Given the description of an element on the screen output the (x, y) to click on. 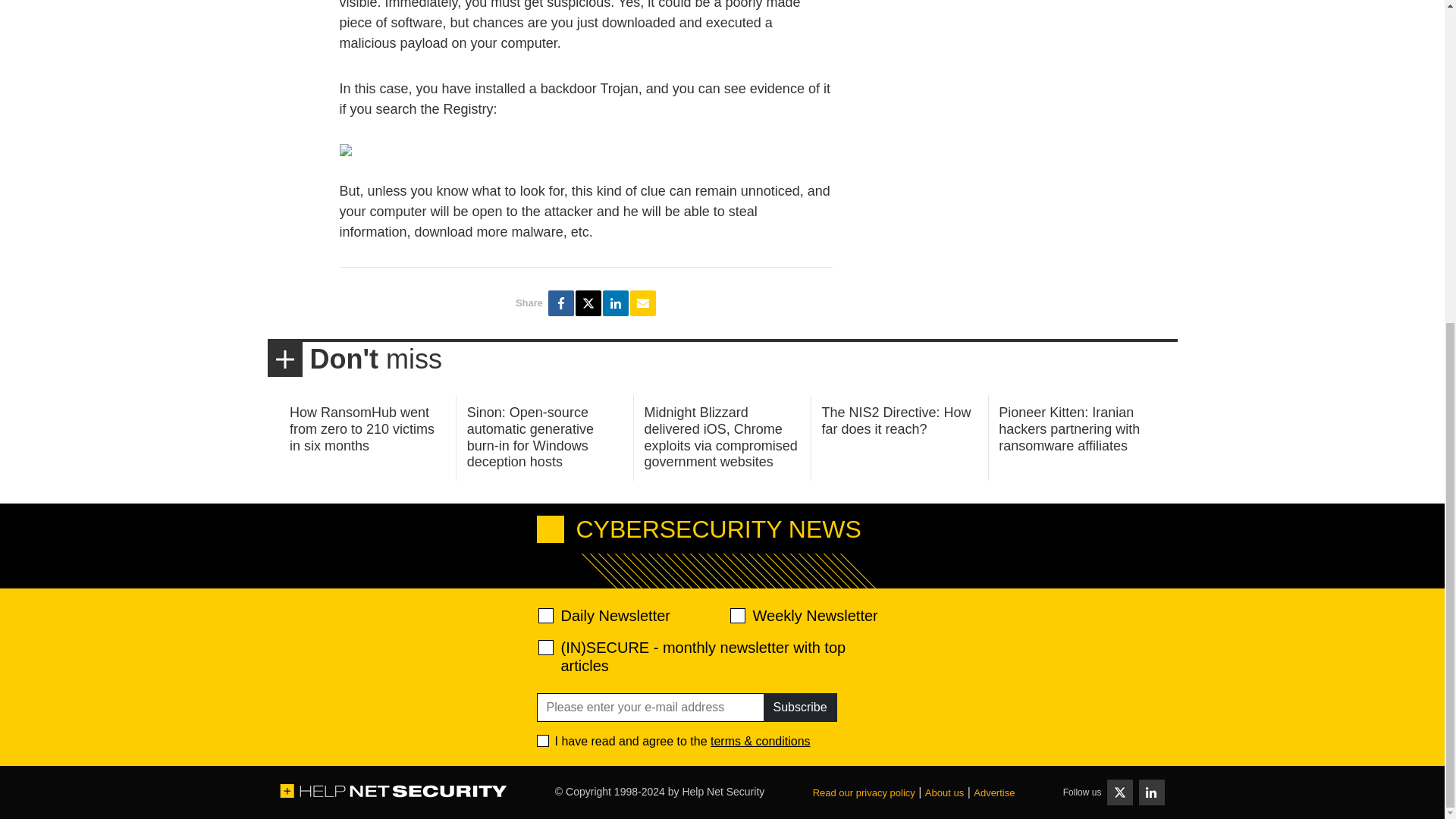
Share Beware of malicious freebies via E-mail (643, 303)
1 (542, 740)
520ac2f639 (545, 615)
28abe5d9ef (545, 647)
Share Beware of malicious freebies on Facebook (560, 303)
Share Beware of malicious freebies on LinkedIn (615, 303)
How RansomHub went from zero to 210 victims in six months (361, 428)
The NIS2 Directive: How far does it reach? (896, 420)
d2d471aafa (736, 615)
